Given the description of an element on the screen output the (x, y) to click on. 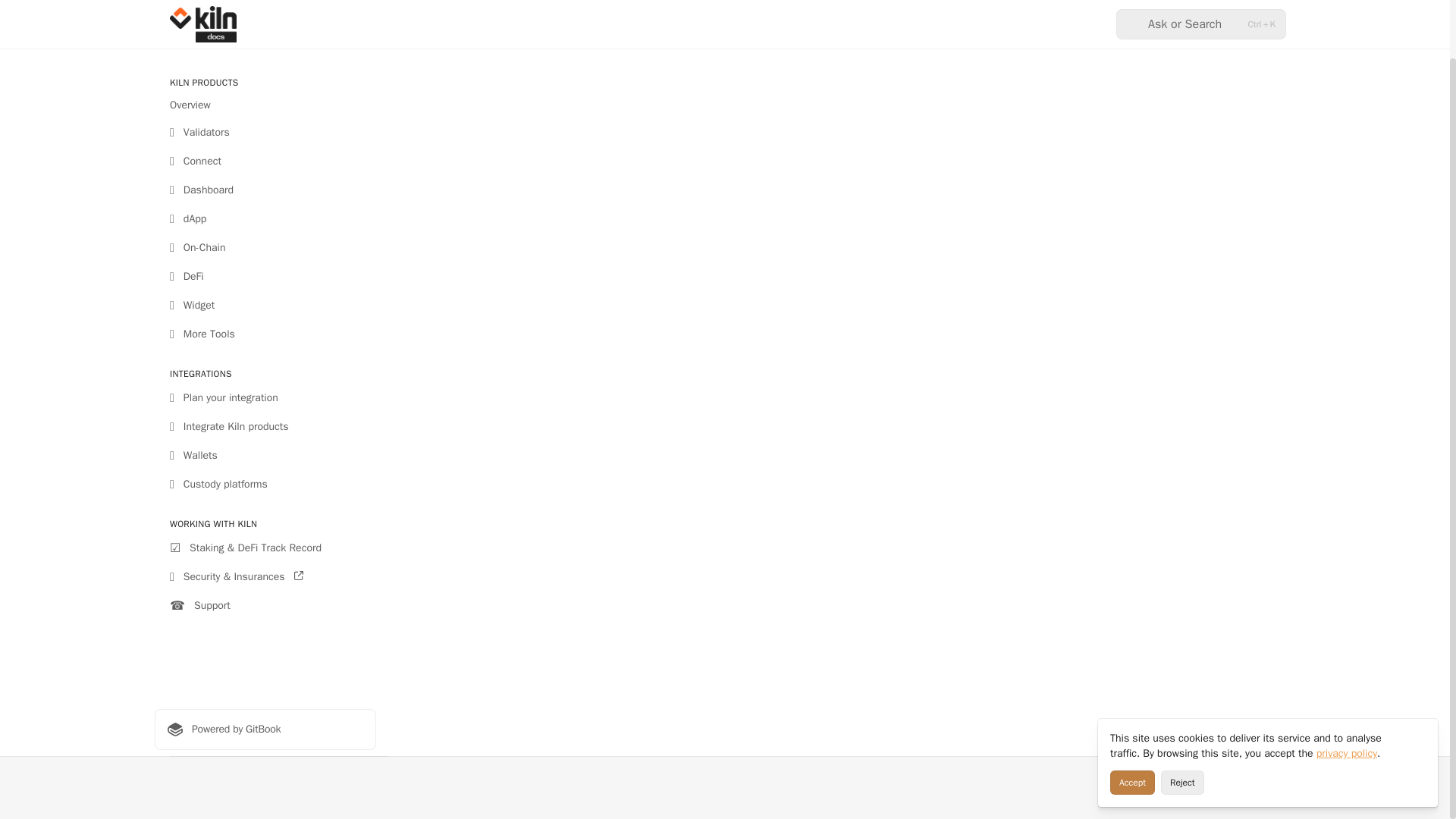
Close (1419, 674)
Overview (264, 105)
Get started (264, 44)
